Given the description of an element on the screen output the (x, y) to click on. 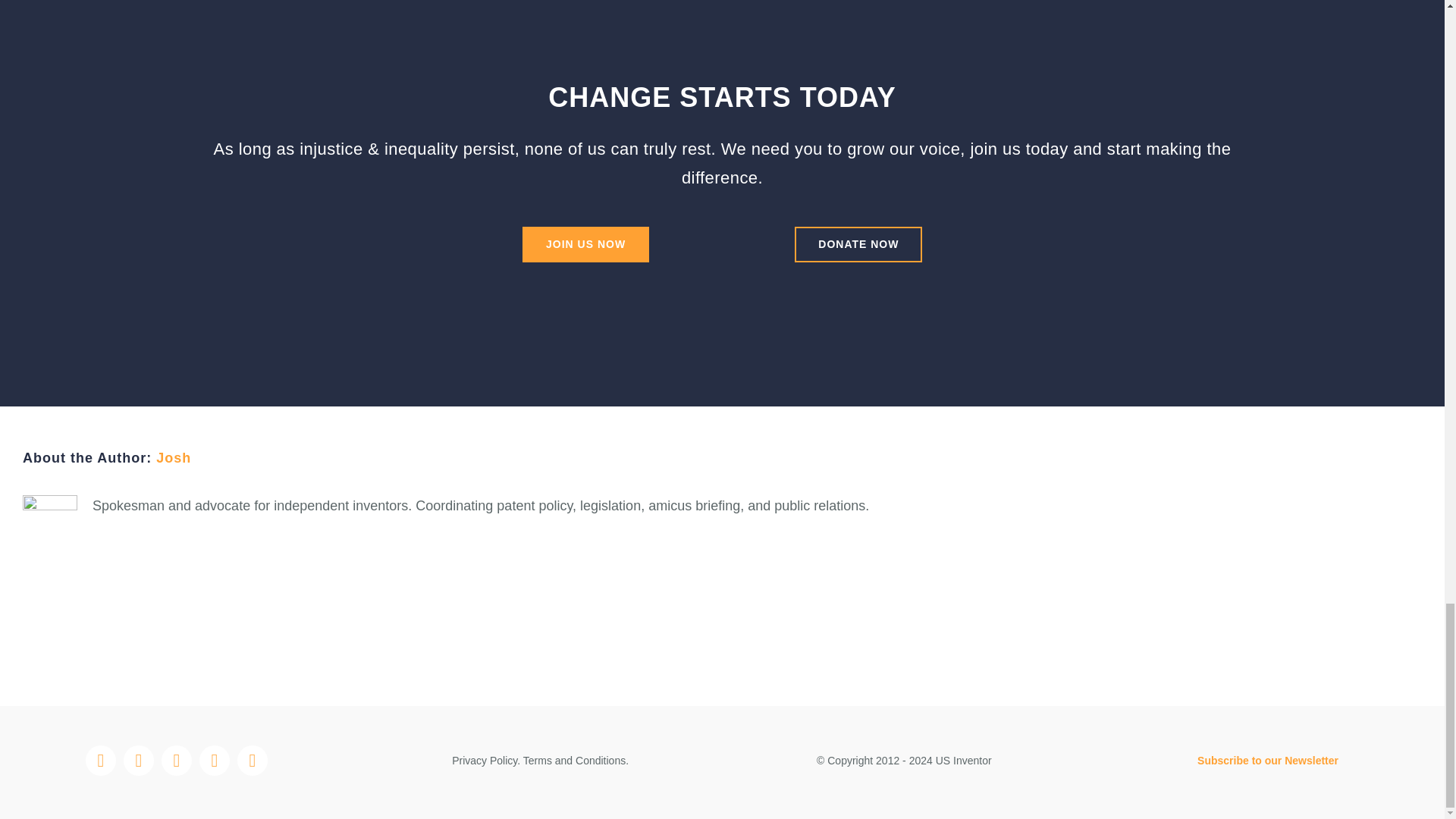
LinkedIn (252, 760)
usinventorlogohq144pxat2x (721, 628)
YouTube (214, 760)
Facebook (100, 760)
Twitter (176, 760)
Instagram (138, 760)
Posts by Josh (172, 458)
